Given the description of an element on the screen output the (x, y) to click on. 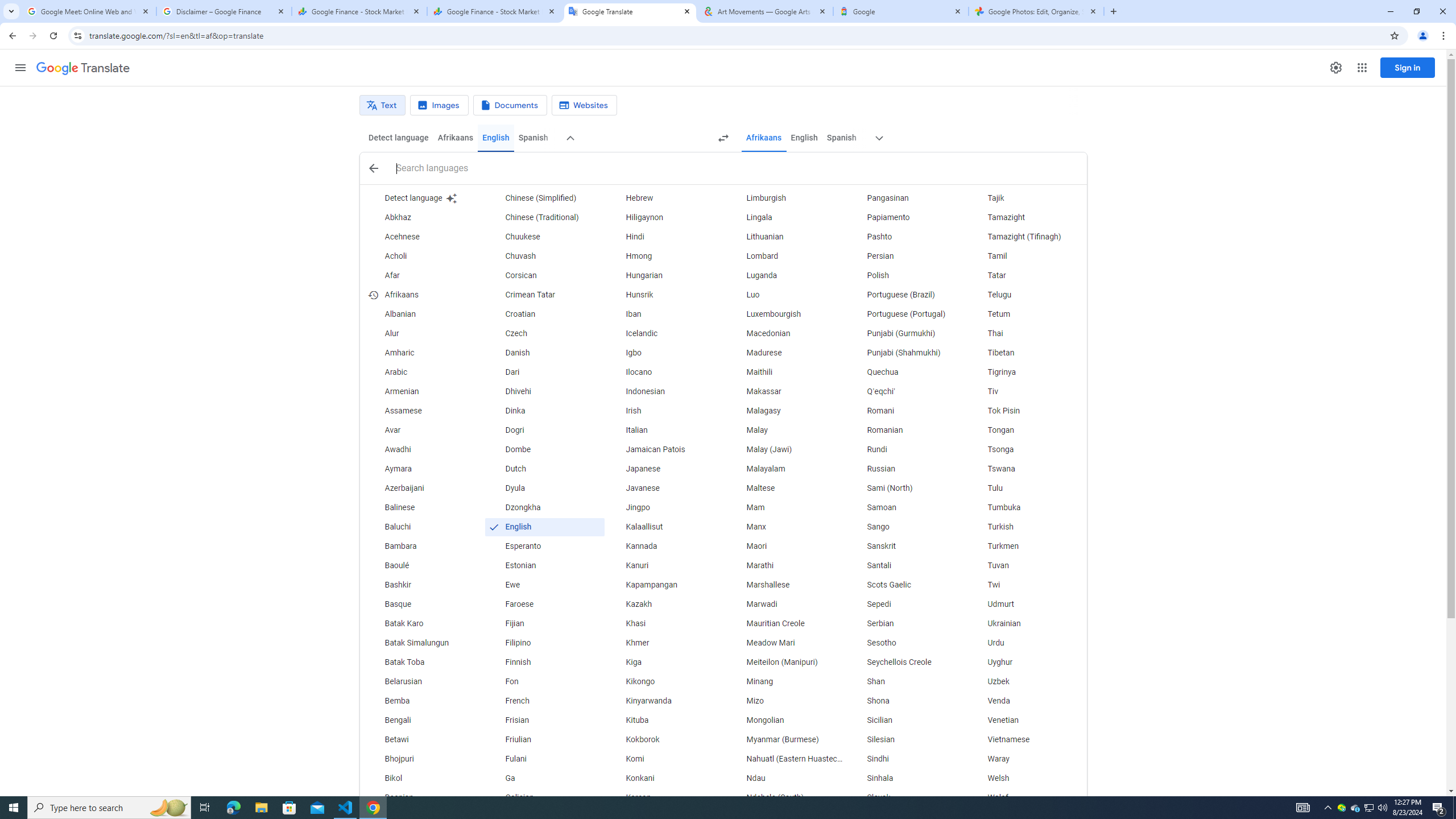
Khmer (665, 642)
Twi (1026, 584)
Tswana (1026, 469)
Basque (423, 604)
Tuvan (1026, 565)
Myanmar (Burmese) (785, 739)
Faroese (544, 604)
Wolof (1026, 797)
Vietnamese (1026, 739)
Document translation (510, 105)
Punjabi (Shahmukhi) (905, 352)
Tamazight (Tifinagh) (1026, 236)
Tigrinya (1026, 372)
